Given the description of an element on the screen output the (x, y) to click on. 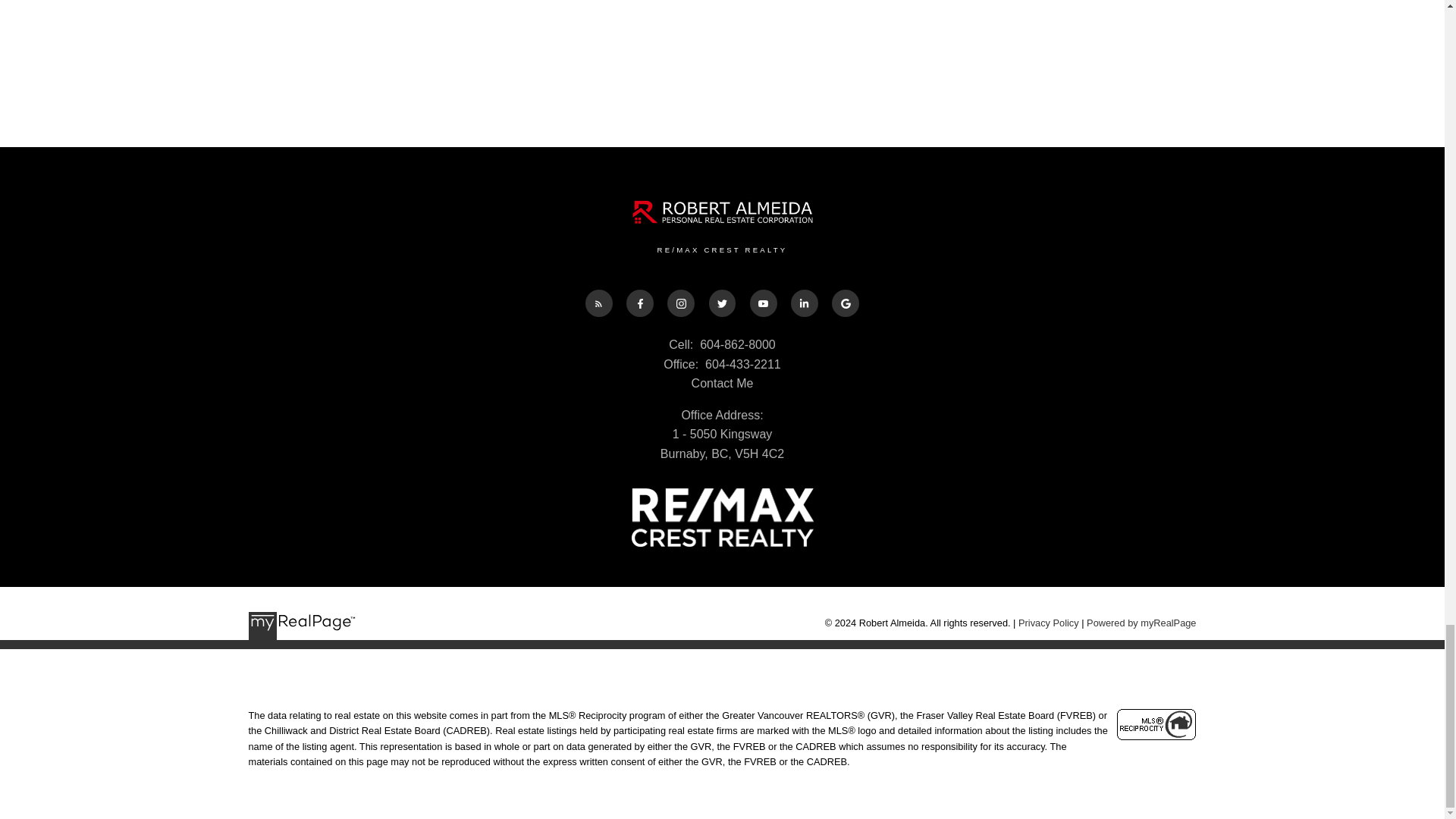
Office:  604-433-2211 (722, 364)
Privacy Policy (1047, 622)
Contact Me (722, 382)
Powered by myRealPage (1140, 622)
Cell:  604-862-8000 (722, 344)
